Given the description of an element on the screen output the (x, y) to click on. 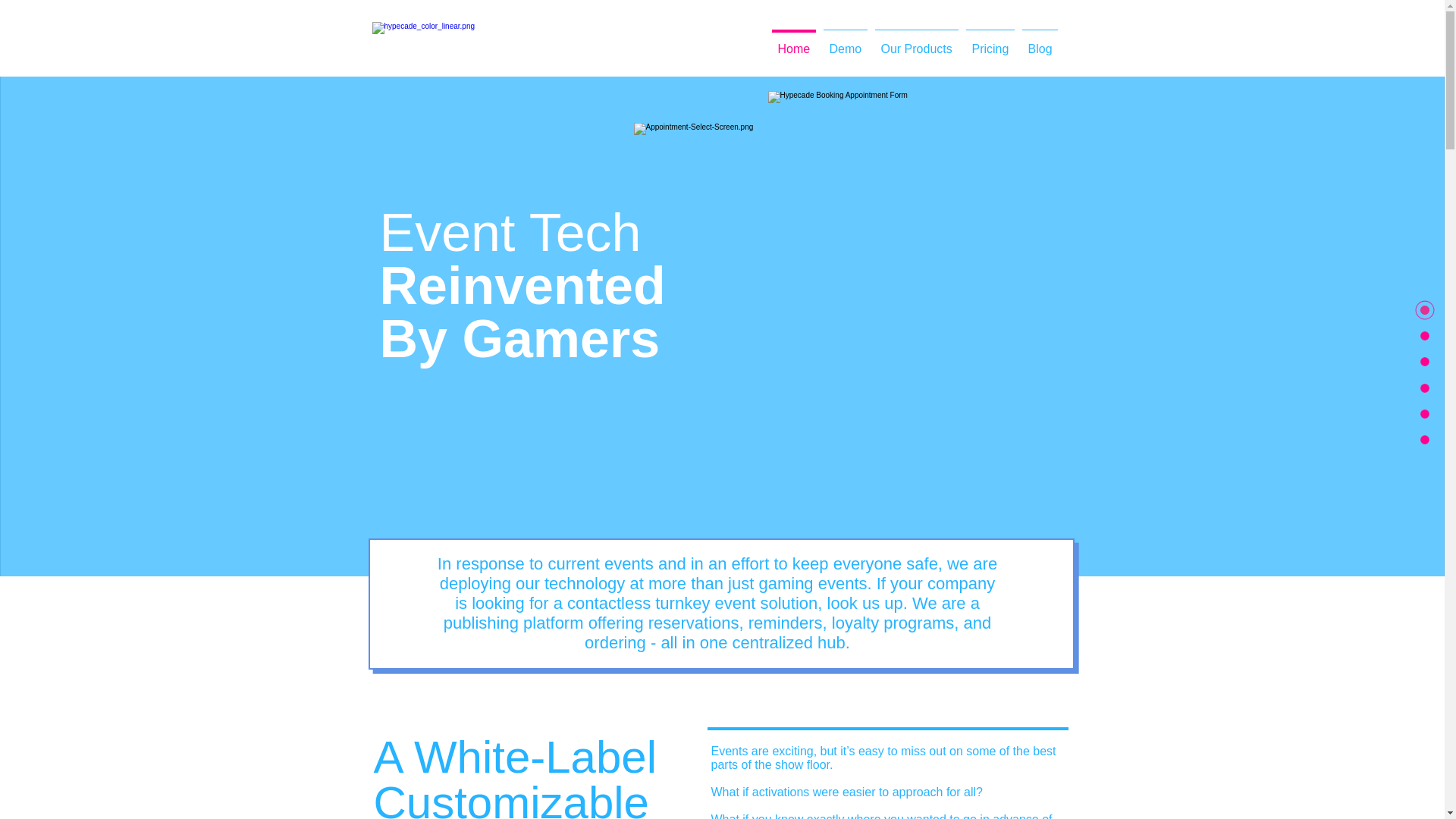
Pricing (988, 42)
Demo (844, 42)
Our Products (915, 42)
Home (792, 42)
Blog (1039, 42)
